Given the description of an element on the screen output the (x, y) to click on. 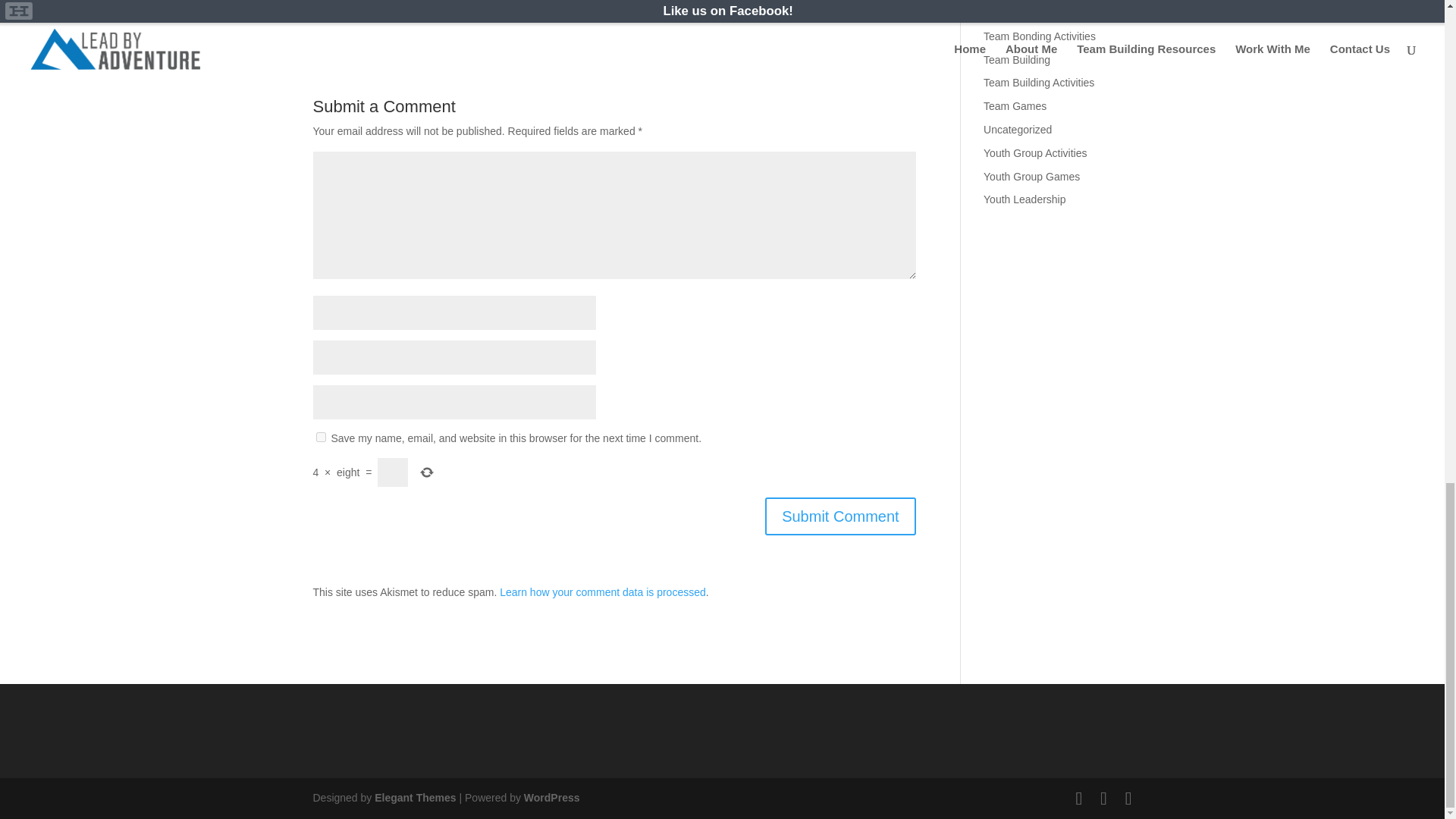
Submit Comment (840, 516)
Submit Comment (840, 516)
Learn how your comment data is processed (602, 592)
yes (319, 437)
Premium WordPress Themes (414, 797)
